Given the description of an element on the screen output the (x, y) to click on. 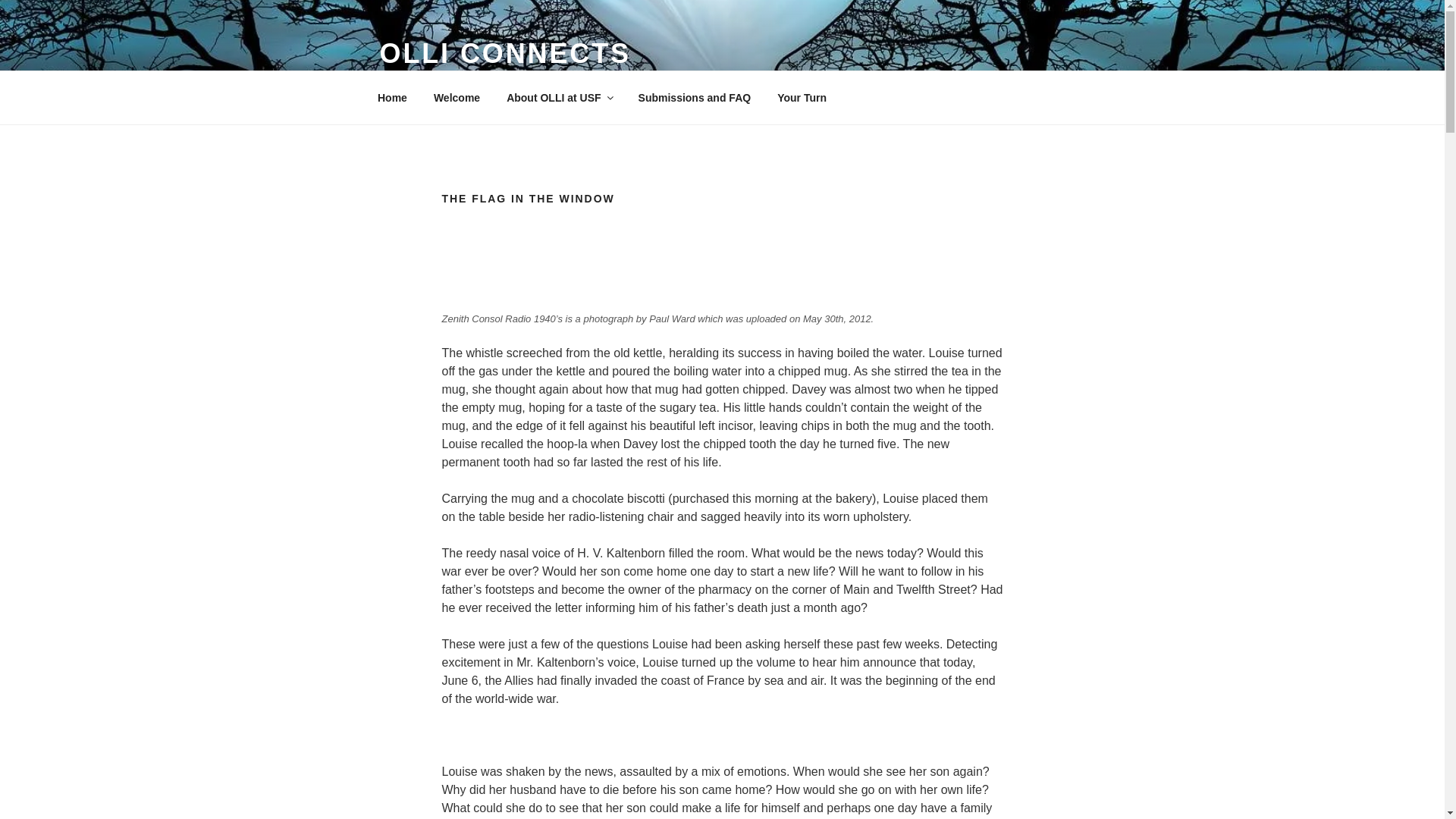
About OLLI at USF (558, 97)
Welcome (456, 97)
Home (392, 97)
Your Turn (802, 97)
OLLI CONNECTS (504, 52)
Submissions and FAQ (694, 97)
